Given the description of an element on the screen output the (x, y) to click on. 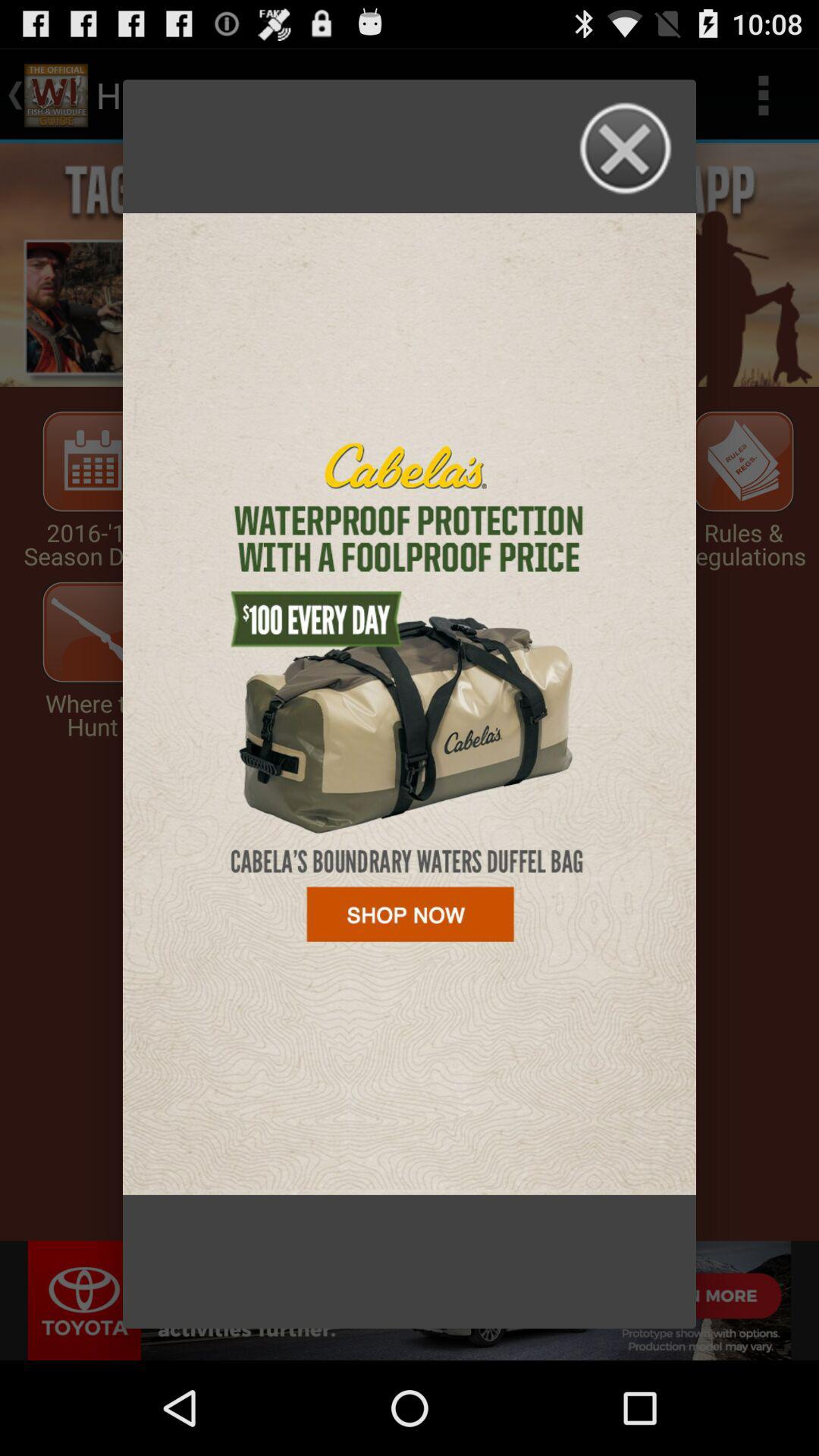
close (626, 149)
